Given the description of an element on the screen output the (x, y) to click on. 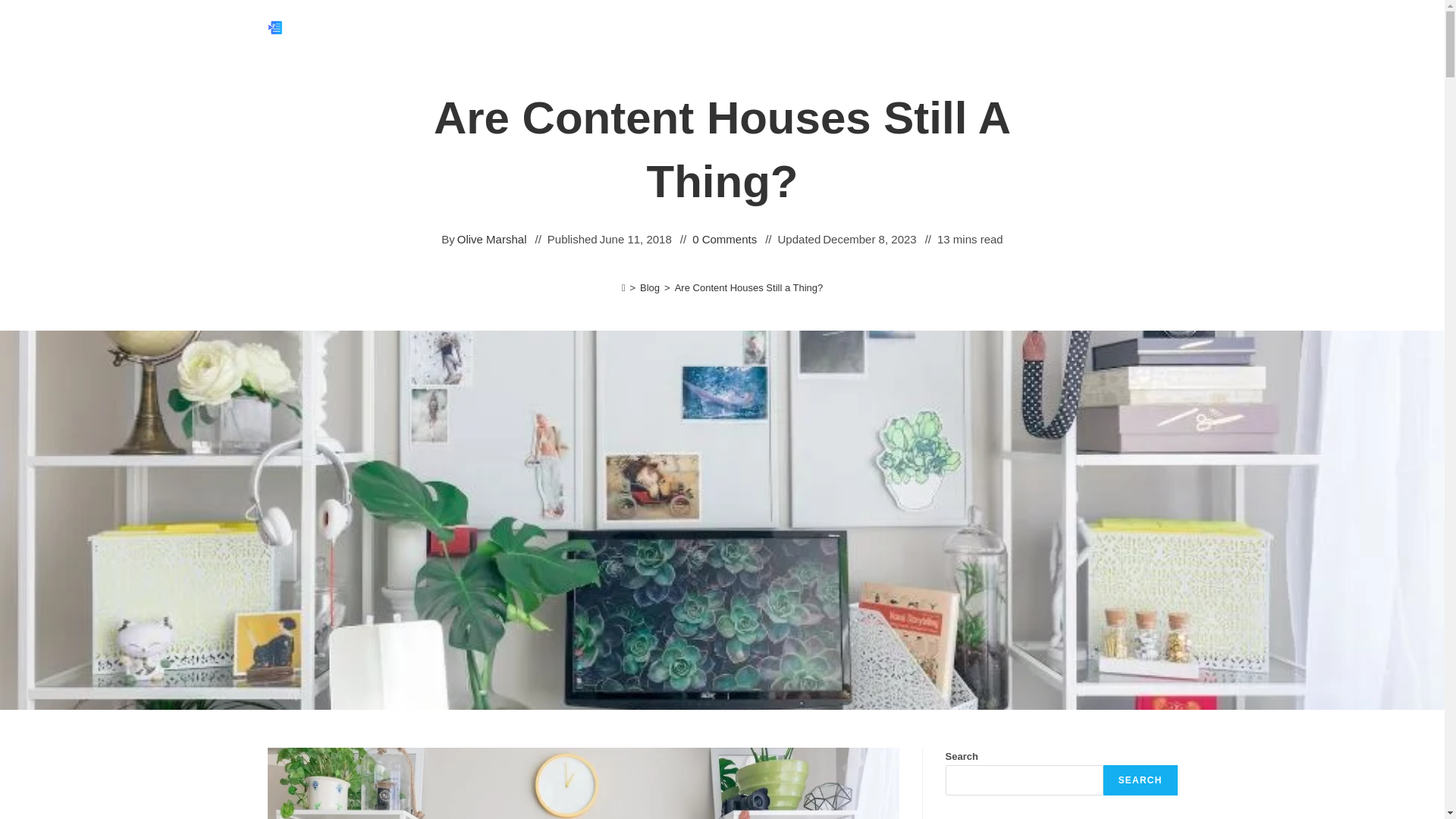
Blog (649, 287)
SEARCH (1140, 779)
0 Comments (725, 239)
Olive Marshal (492, 239)
Are Content Houses Still a Thing? (749, 287)
